Given the description of an element on the screen output the (x, y) to click on. 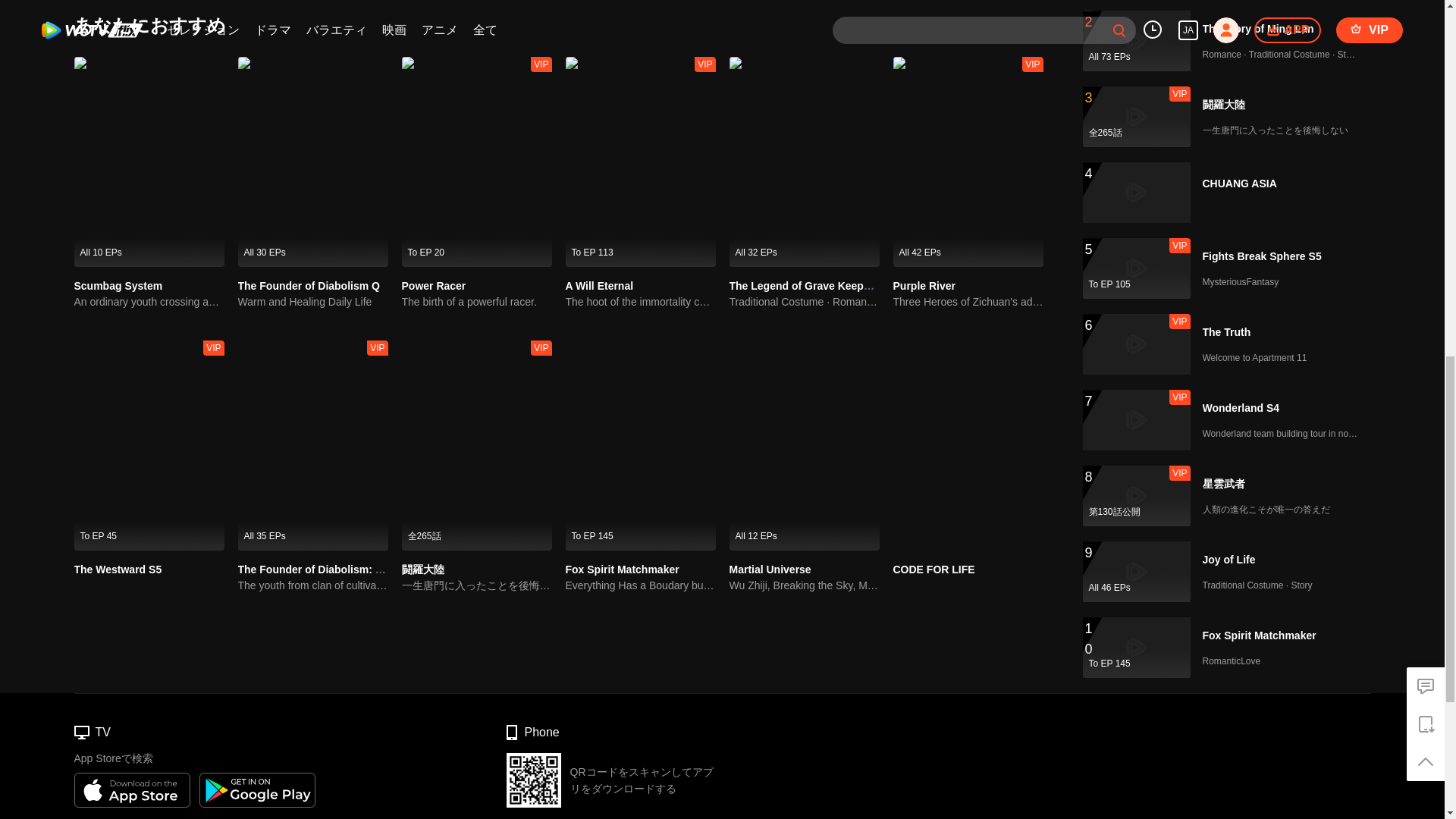
Power Racer (433, 285)
A Will Eternal (599, 285)
The Westward S5 (117, 569)
The Founder of Diabolism Q (309, 285)
Three Heroes of Zichuan's adventure on Xichuan Continent (968, 302)
Warm and Healing Daily Life (313, 302)
The Legend of Grave Keepers (804, 285)
The hoot of the immortality cultivation world is back! (641, 302)
The birth of a powerful racer. (476, 302)
Purple River (924, 285)
Scumbag System (118, 285)
